Given the description of an element on the screen output the (x, y) to click on. 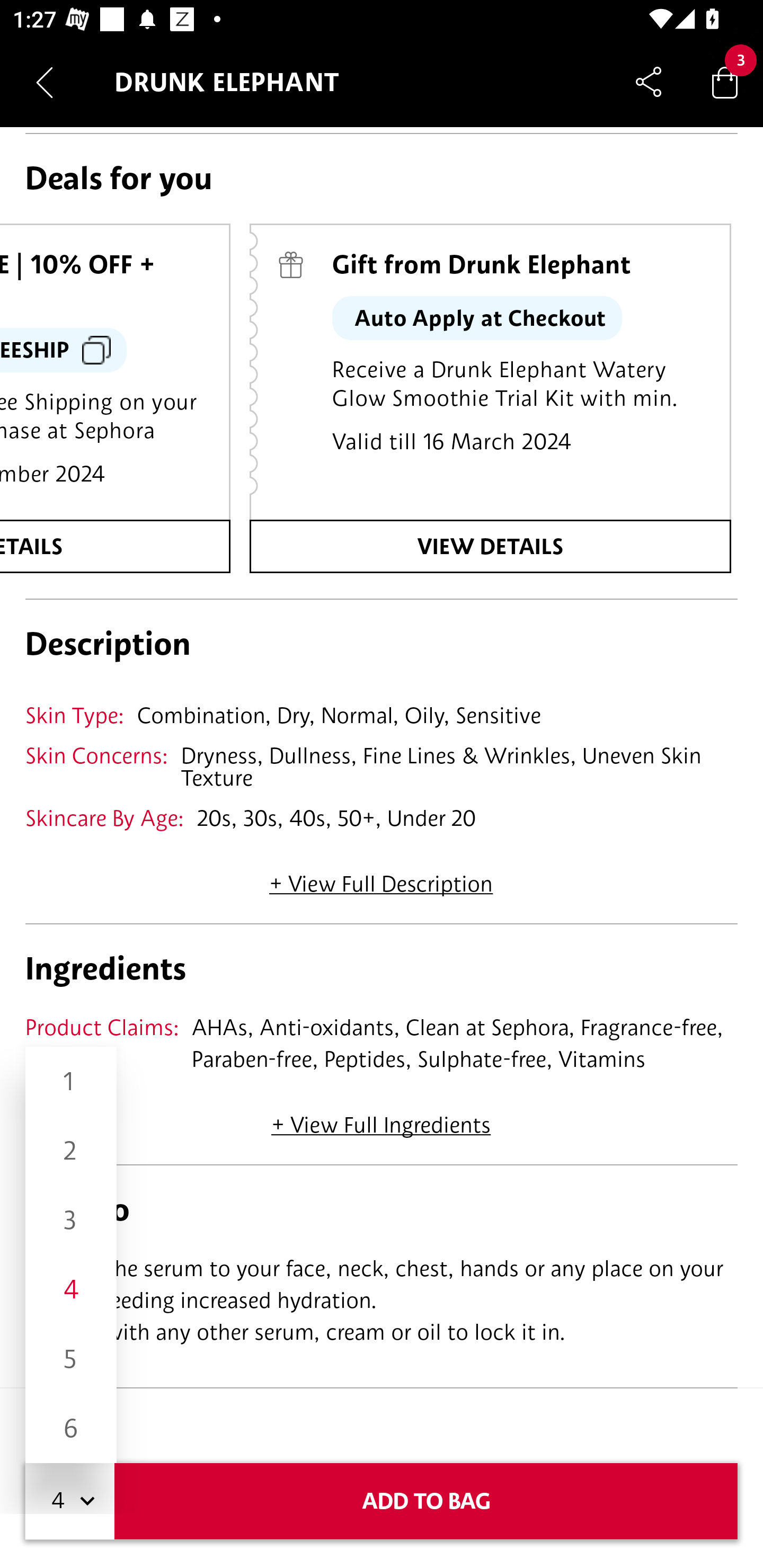
1 (70, 1081)
2 (70, 1150)
3 (70, 1219)
4 (70, 1289)
5 (70, 1358)
6 (70, 1427)
